Given the description of an element on the screen output the (x, y) to click on. 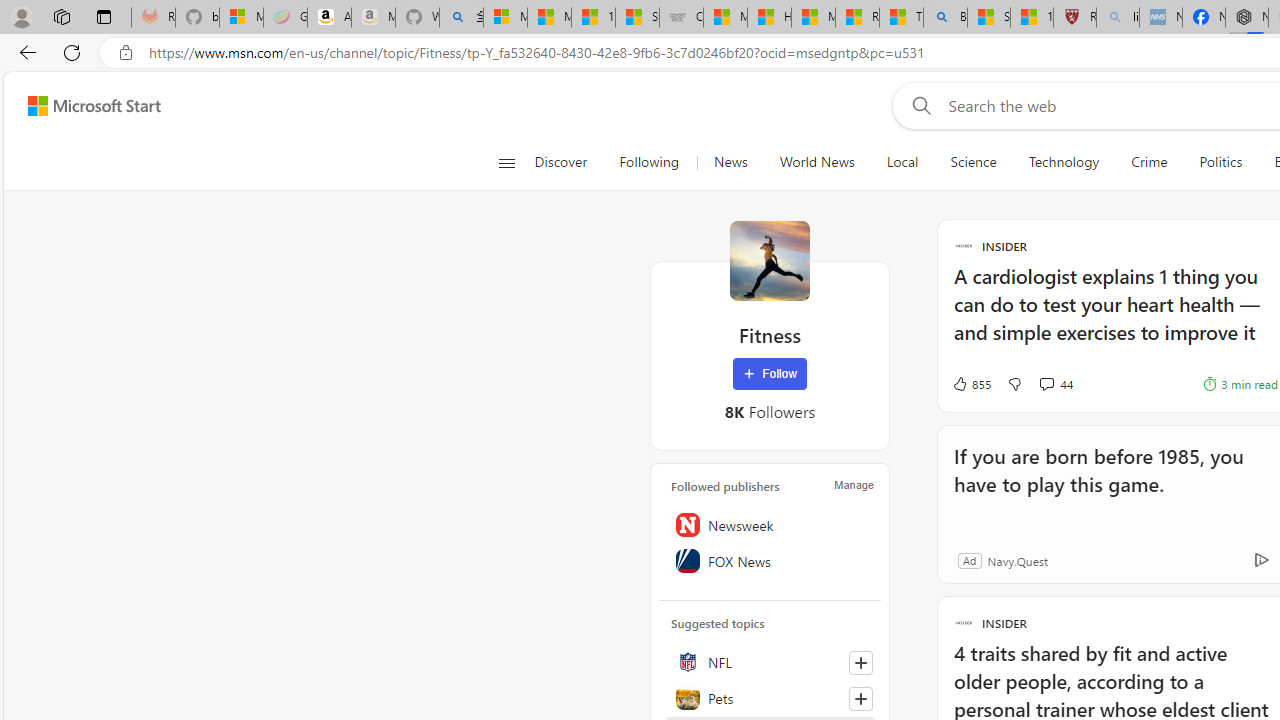
855 Like (970, 384)
If you are born before 1985, you have to play this game. (1108, 484)
NFL (770, 661)
How I Got Rid of Microsoft Edge's Unnecessary Features (769, 17)
Open navigation menu (506, 162)
Technology (1064, 162)
